Given the description of an element on the screen output the (x, y) to click on. 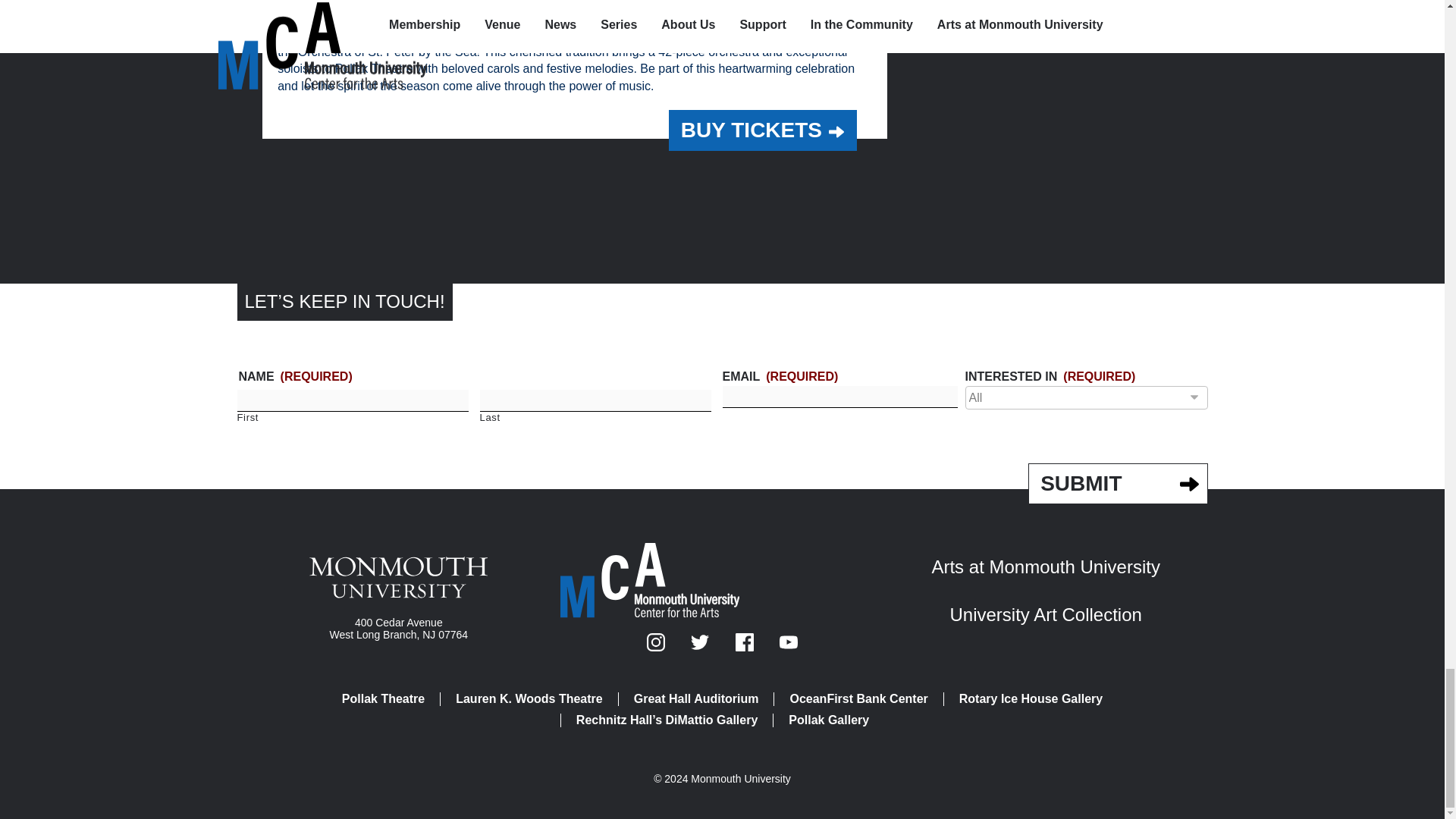
Orchestra of St. Peter by the Sea (489, 7)
Submit (1117, 483)
